Given the description of an element on the screen output the (x, y) to click on. 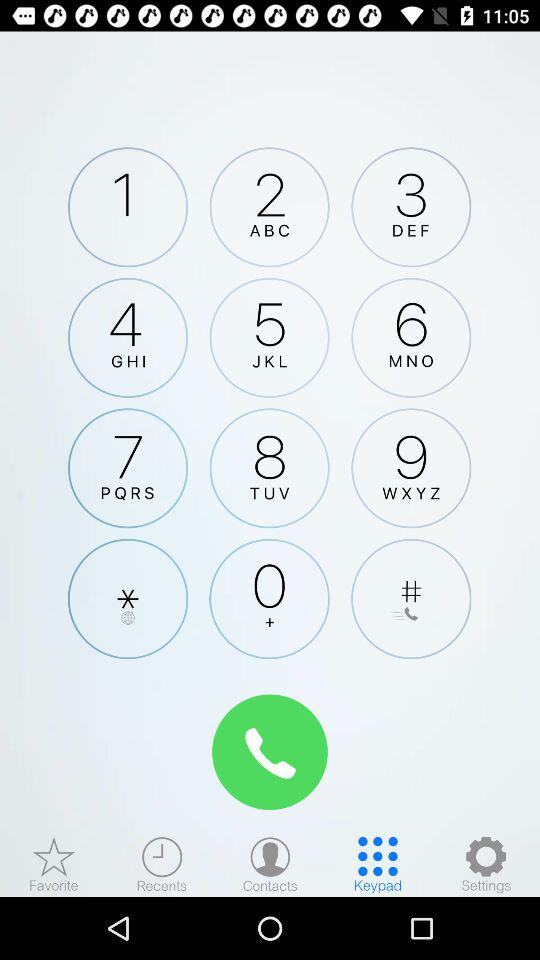
keypad numeral one (127, 207)
